Given the description of an element on the screen output the (x, y) to click on. 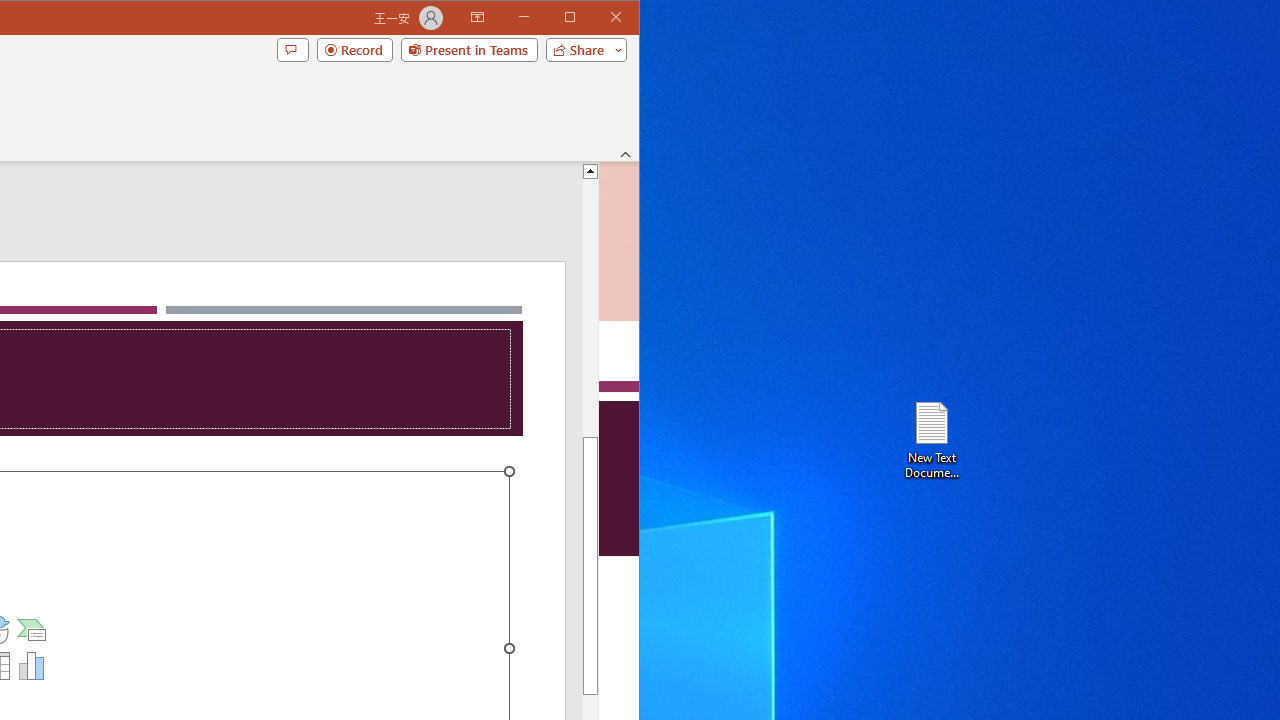
Maximize (598, 18)
Insert Chart (31, 665)
Insert a SmartArt Graphic (31, 629)
